Given the description of an element on the screen output the (x, y) to click on. 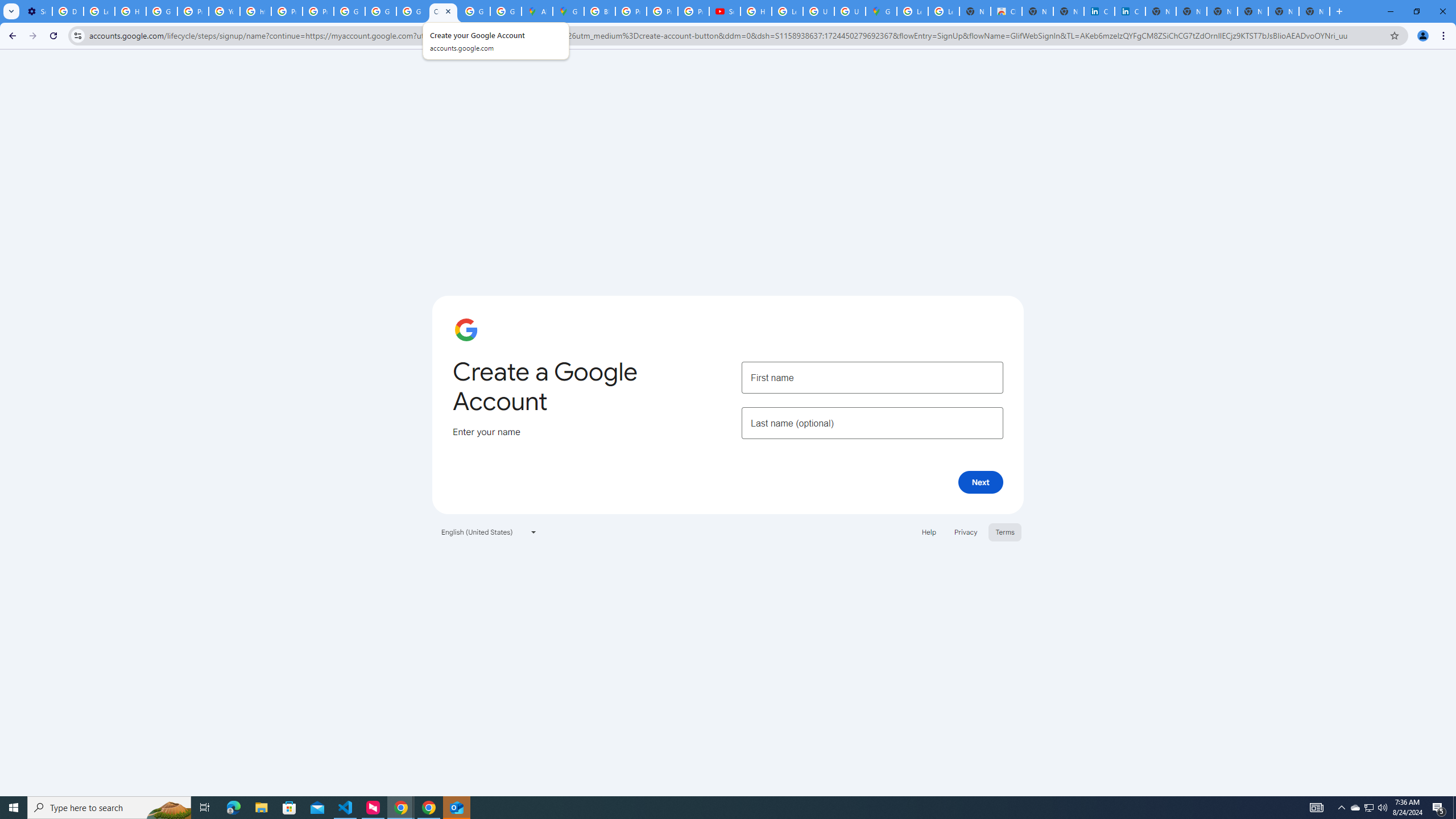
How Chrome protects your passwords - Google Chrome Help (756, 11)
Privacy Help Center - Policies Help (286, 11)
Delete photos & videos - Computer - Google Photos Help (67, 11)
Create your Google Account (443, 11)
Cookie Policy | LinkedIn (1129, 11)
